Given the description of an element on the screen output the (x, y) to click on. 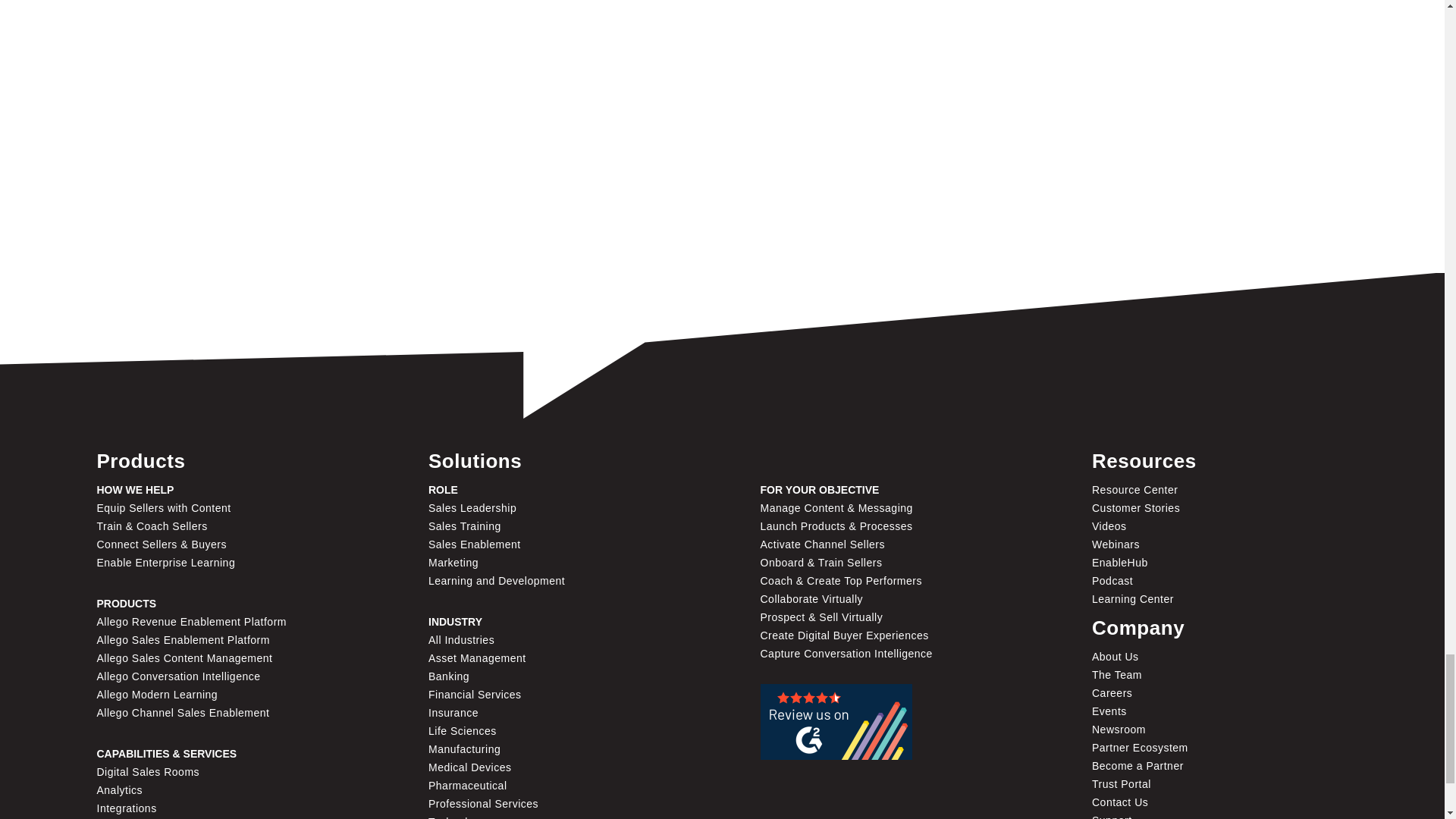
Write a review of Allego on G2 (835, 721)
